Given the description of an element on the screen output the (x, y) to click on. 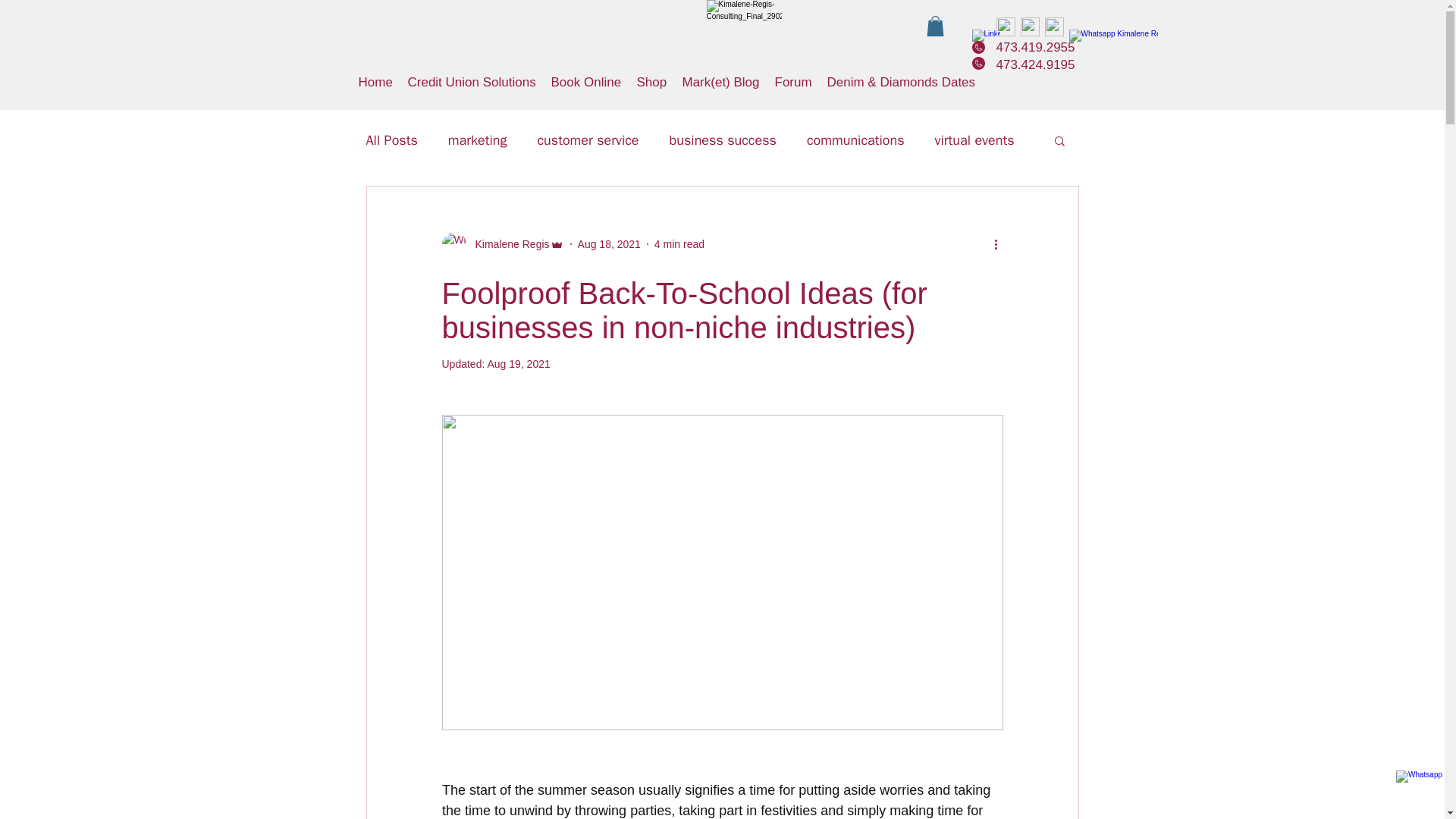
Kimalene Regis (506, 244)
Kimalene Regis (502, 243)
Book Online (585, 82)
Credit Union Solutions (471, 82)
business success (722, 140)
Shop (651, 82)
communications (855, 140)
customer service (588, 140)
Home (374, 82)
marketing (477, 140)
4 min read (678, 244)
Forum (793, 82)
Aug 19, 2021 (518, 363)
Aug 18, 2021 (609, 244)
virtual events (974, 140)
